Given the description of an element on the screen output the (x, y) to click on. 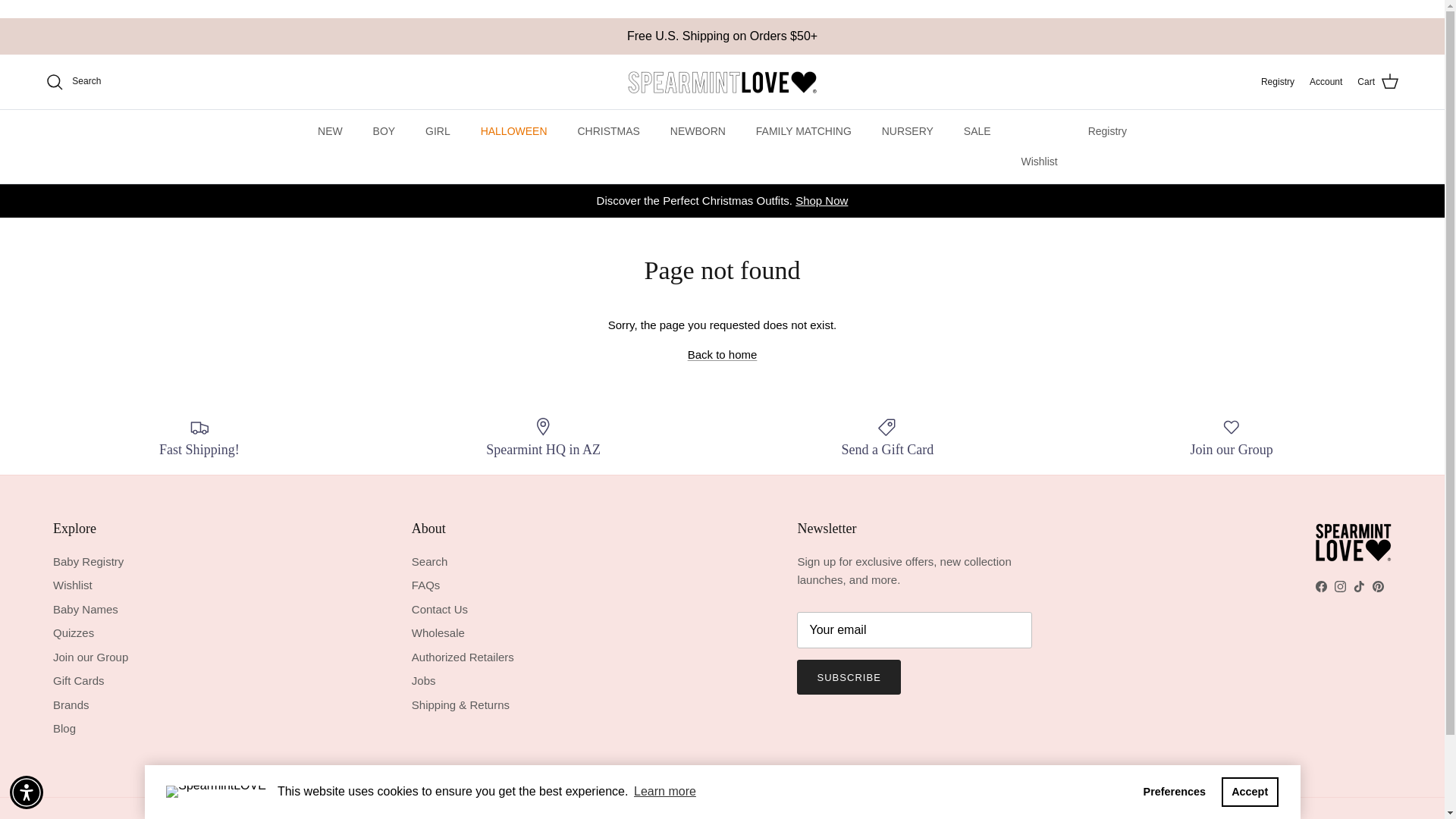
SpearmintLOVE on Pinterest (1378, 586)
Cart (1377, 81)
SpearmintLOVE on Instagram (1340, 586)
Accept (1249, 791)
SpearmintLOVE on Facebook (1321, 586)
Account (1325, 82)
Search (72, 81)
Learn more (664, 791)
SpearmintLOVE (721, 82)
Registry (1277, 82)
